Given the description of an element on the screen output the (x, y) to click on. 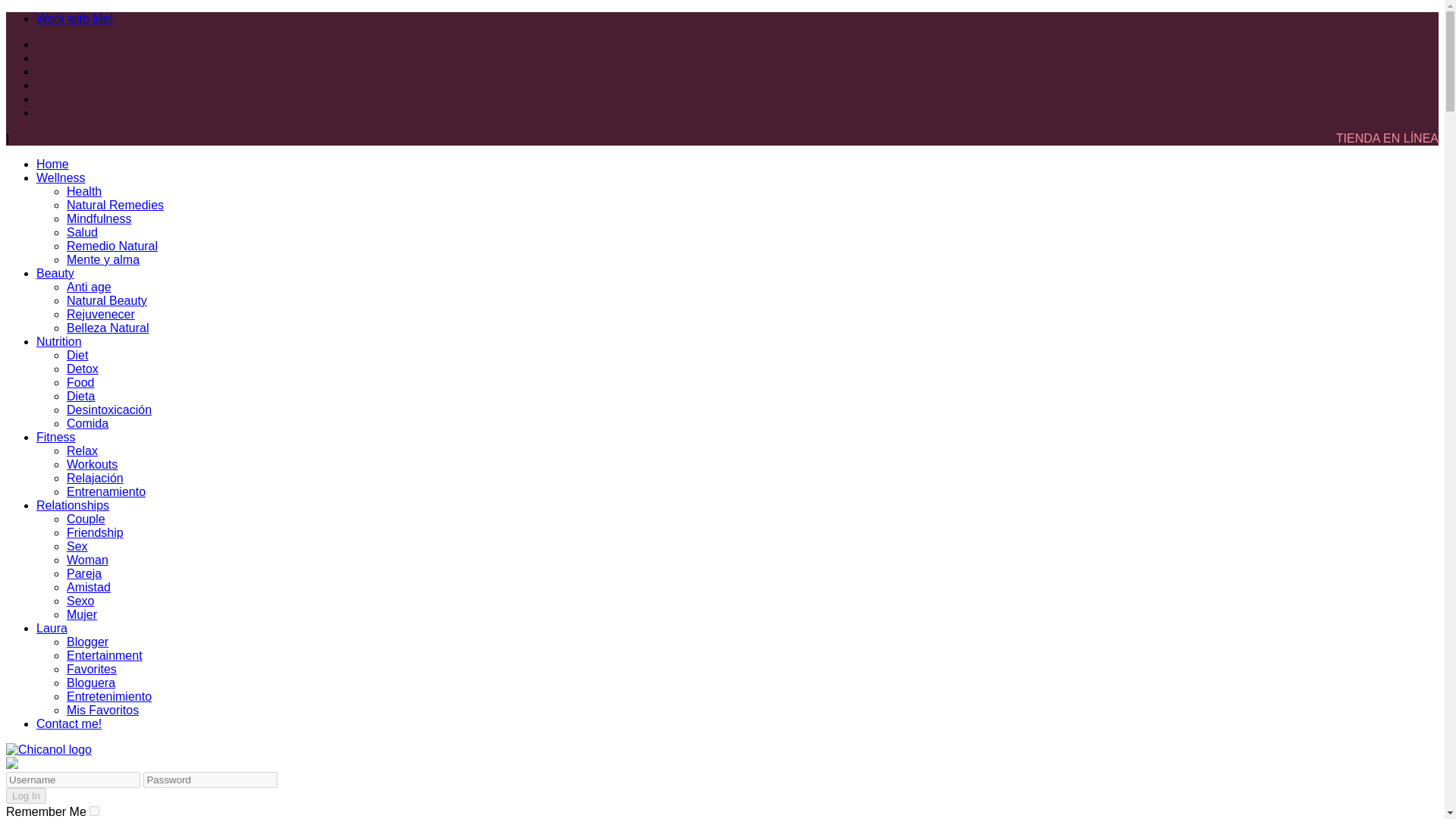
Salud (81, 232)
Beauty (55, 273)
Log In (25, 795)
Nutrition (58, 341)
Relax (81, 450)
Rejuvenecer (100, 314)
Food (80, 382)
Comida (86, 422)
forever (93, 810)
Natural Remedies (114, 205)
